Given the description of an element on the screen output the (x, y) to click on. 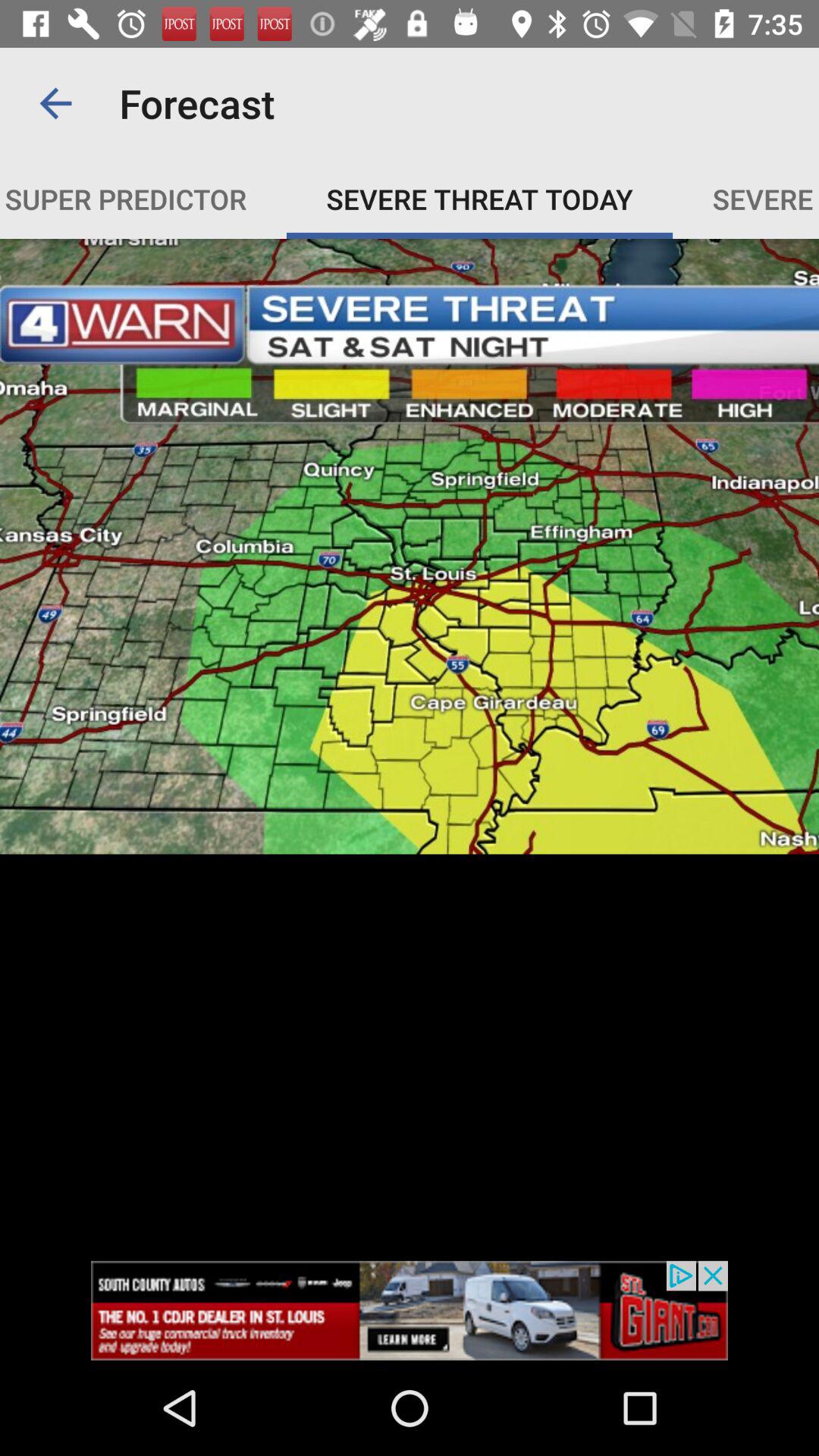
go to advertisement website (409, 1310)
